Given the description of an element on the screen output the (x, y) to click on. 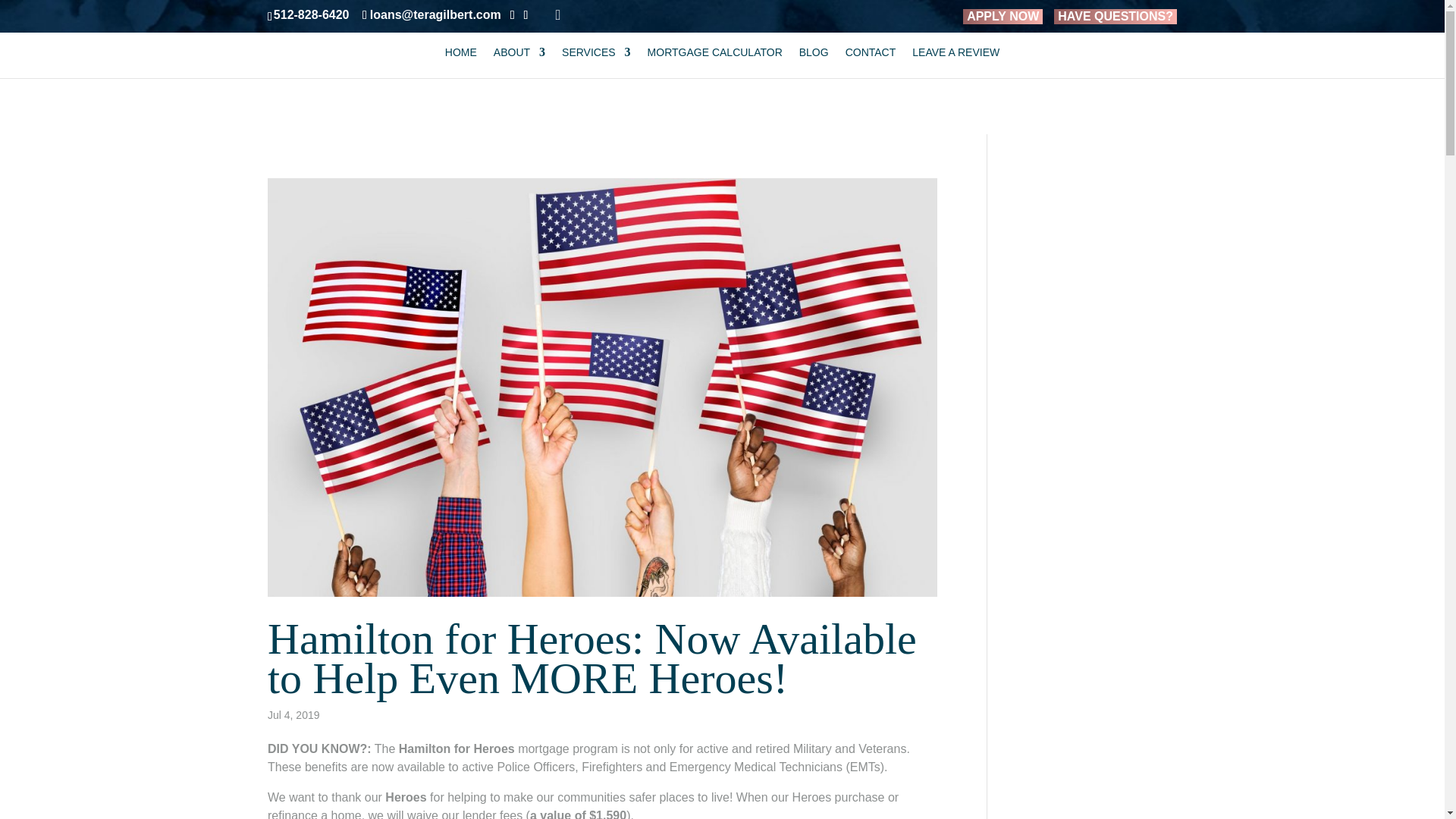
CONTACT (870, 61)
MORTGAGE CALCULATOR (715, 61)
ABOUT (518, 61)
HAVE QUESTIONS? (1115, 16)
BLOG (813, 61)
LEAVE A REVIEW (955, 61)
APPLY NOW (1002, 16)
HOME (461, 61)
SERVICES (596, 61)
